Given the description of an element on the screen output the (x, y) to click on. 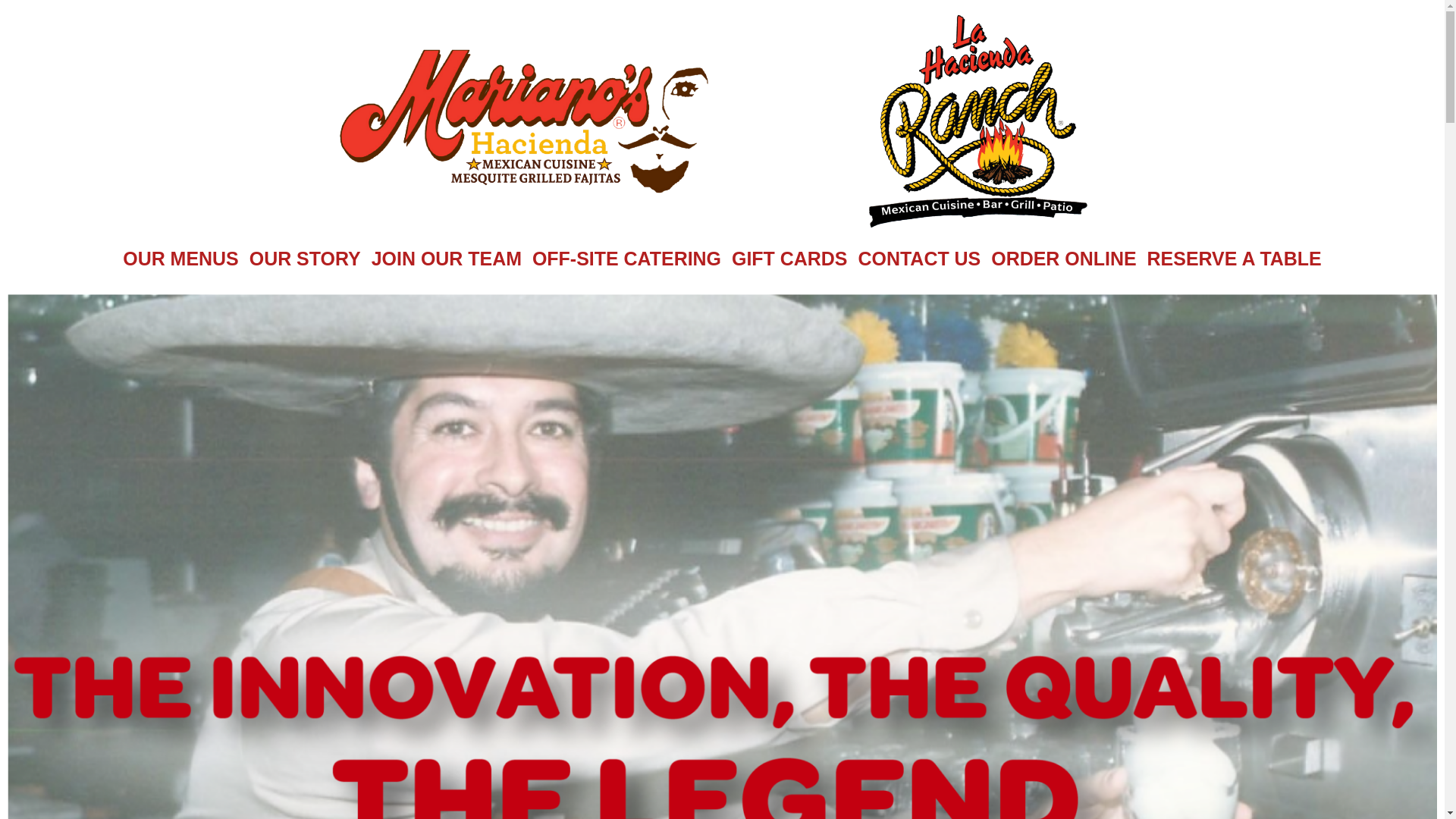
RESERVE A TABLE (1233, 259)
OUR STORY (305, 259)
CONTACT US (920, 259)
ORDER ONLINE (1063, 259)
OUR MENUS (180, 259)
OFF-SITE CATERING (626, 259)
JOIN OUR TEAM (446, 259)
GIFT CARDS (789, 259)
